Given the description of an element on the screen output the (x, y) to click on. 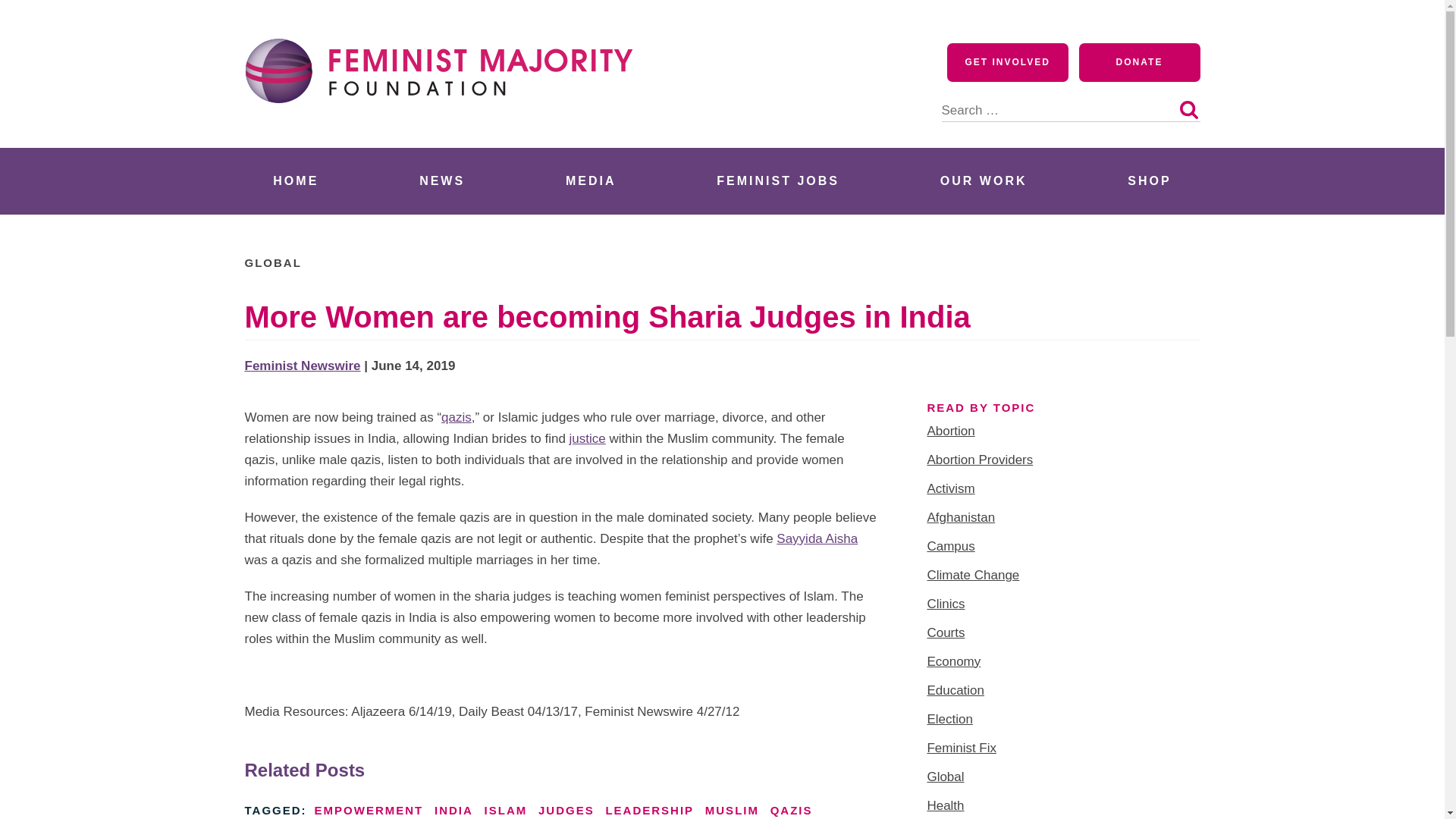
ISLAM (505, 809)
qazis (456, 417)
INDIA (453, 809)
NEWS (441, 181)
Search (1187, 109)
Feminist Majority Foundation (445, 130)
MUSLIM (731, 809)
HOME (295, 181)
JUDGES (566, 809)
FEMINIST JOBS (777, 181)
